Given the description of an element on the screen output the (x, y) to click on. 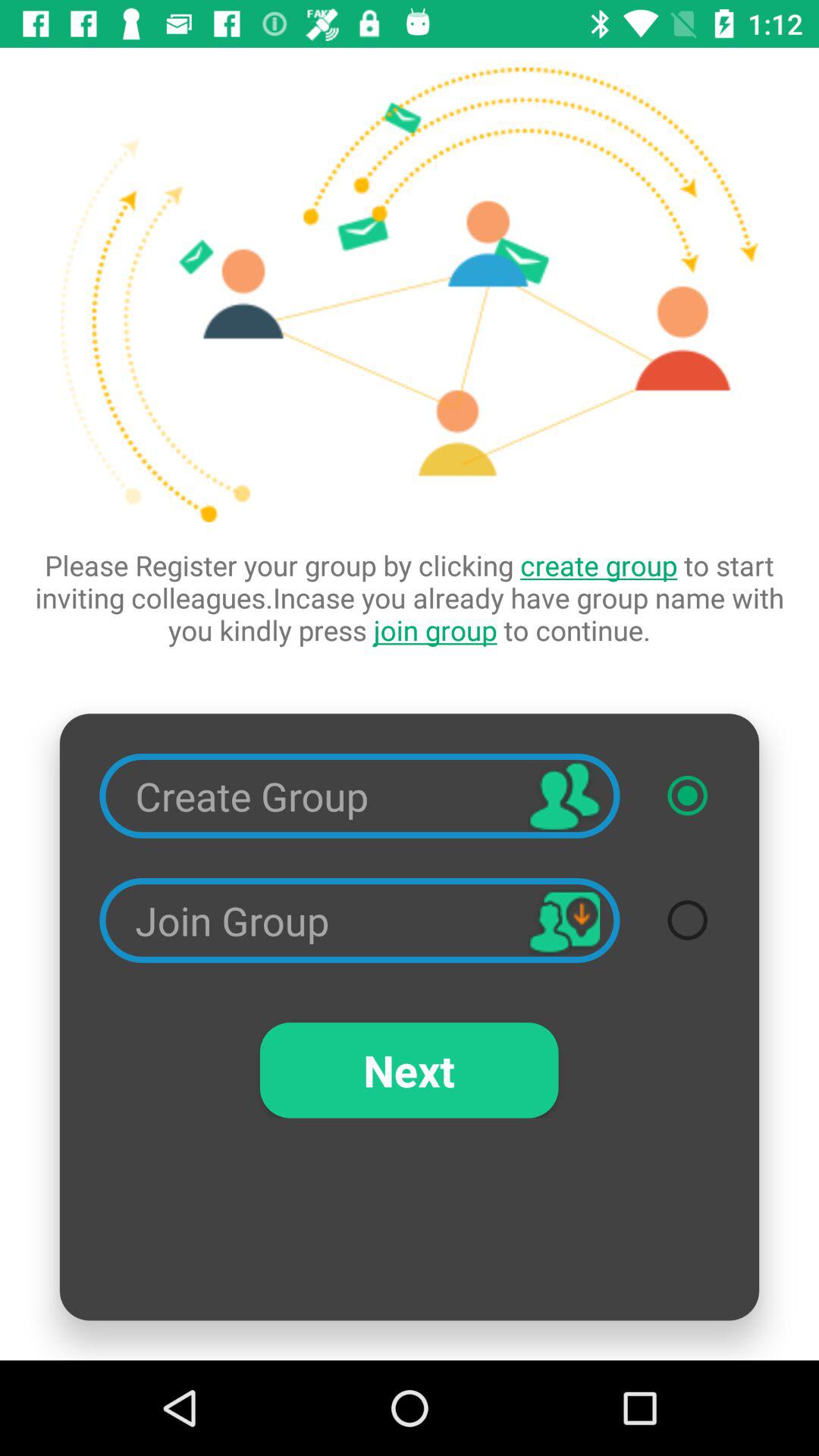
choose the next item (408, 1070)
